Given the description of an element on the screen output the (x, y) to click on. 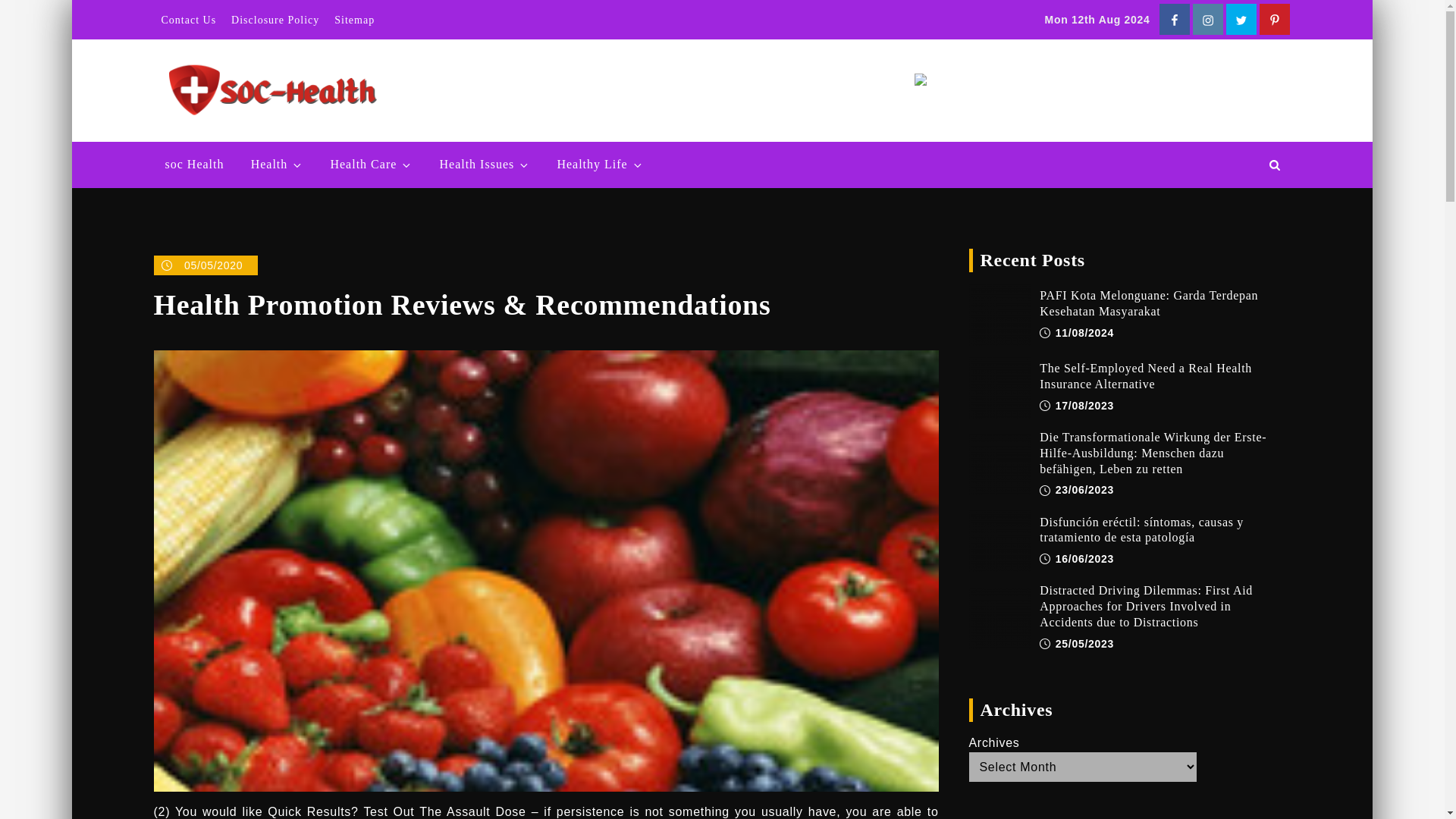
Disclosure Policy (275, 19)
Health (277, 164)
Healthy Life (598, 164)
Instagram (1207, 19)
Sitemap (353, 19)
soc-Health (441, 75)
Health Care (370, 164)
soc Health (193, 164)
Pinterest (1273, 19)
